Given the description of an element on the screen output the (x, y) to click on. 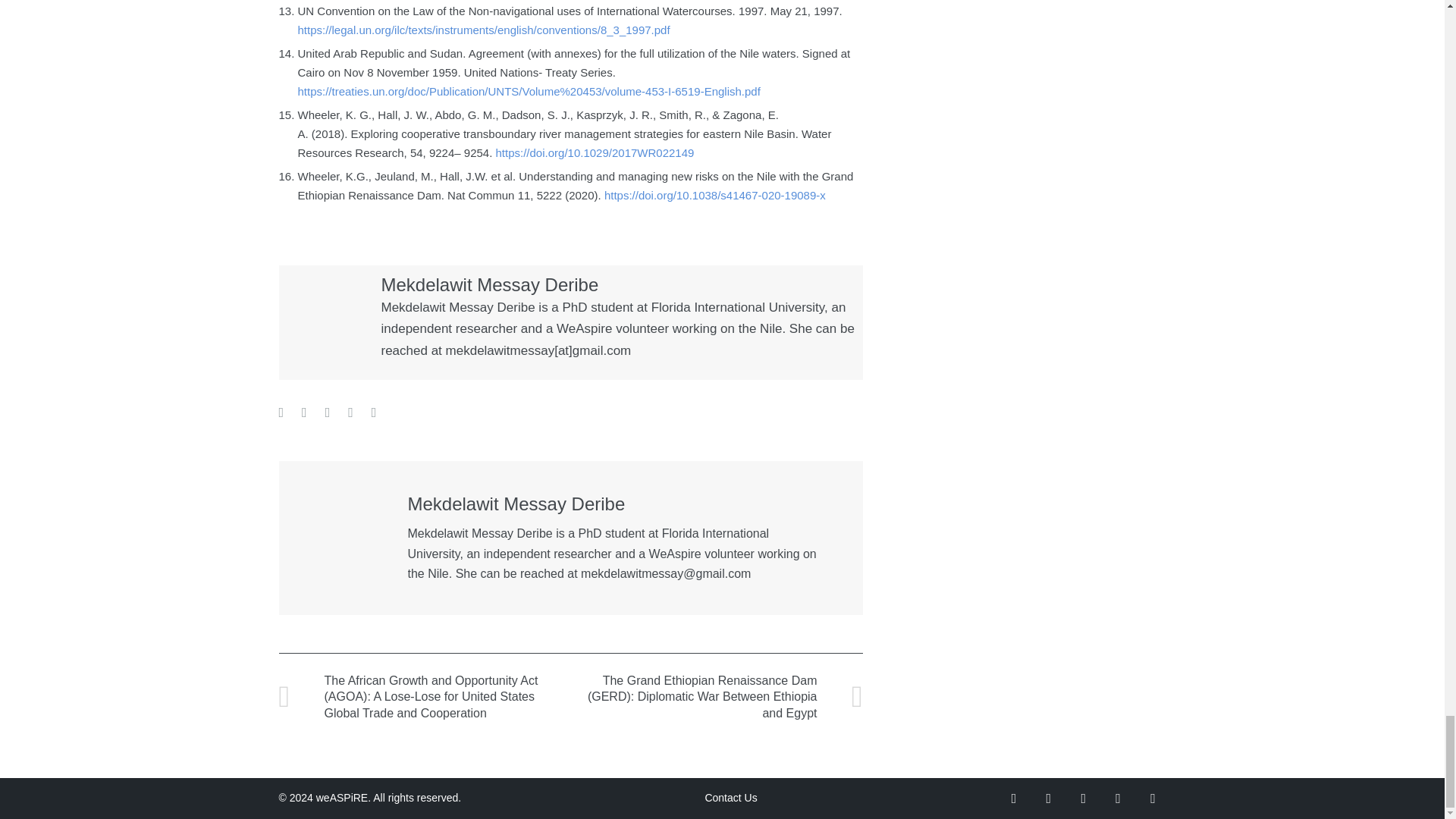
Posts by Mekdelawit Messay Deribe (516, 503)
